Given the description of an element on the screen output the (x, y) to click on. 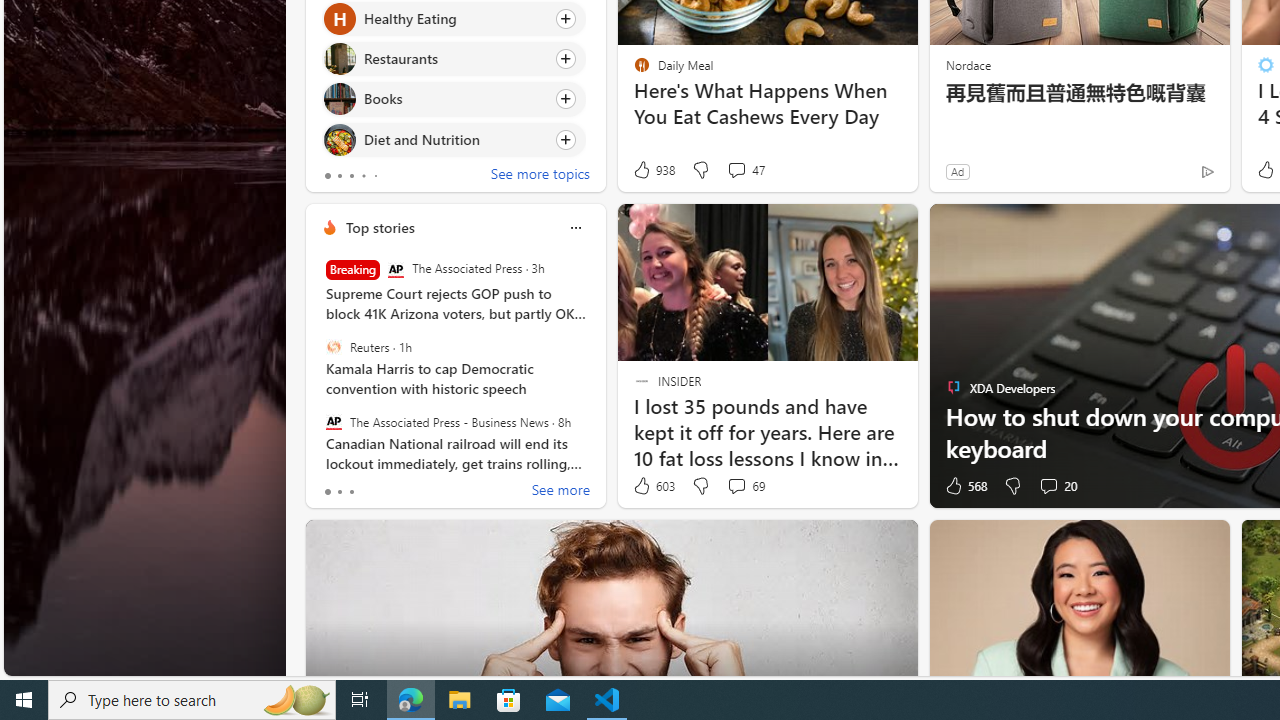
tab-3 (363, 175)
tab-4 (374, 175)
View comments 69 Comment (736, 485)
tab-0 (327, 491)
View comments 20 Comment (1048, 485)
Click to follow topic Books (453, 99)
View comments 20 Comment (1057, 485)
Click to follow topic Restaurants (453, 59)
tab-1 (338, 491)
Restaurants (338, 59)
